Given the description of an element on the screen output the (x, y) to click on. 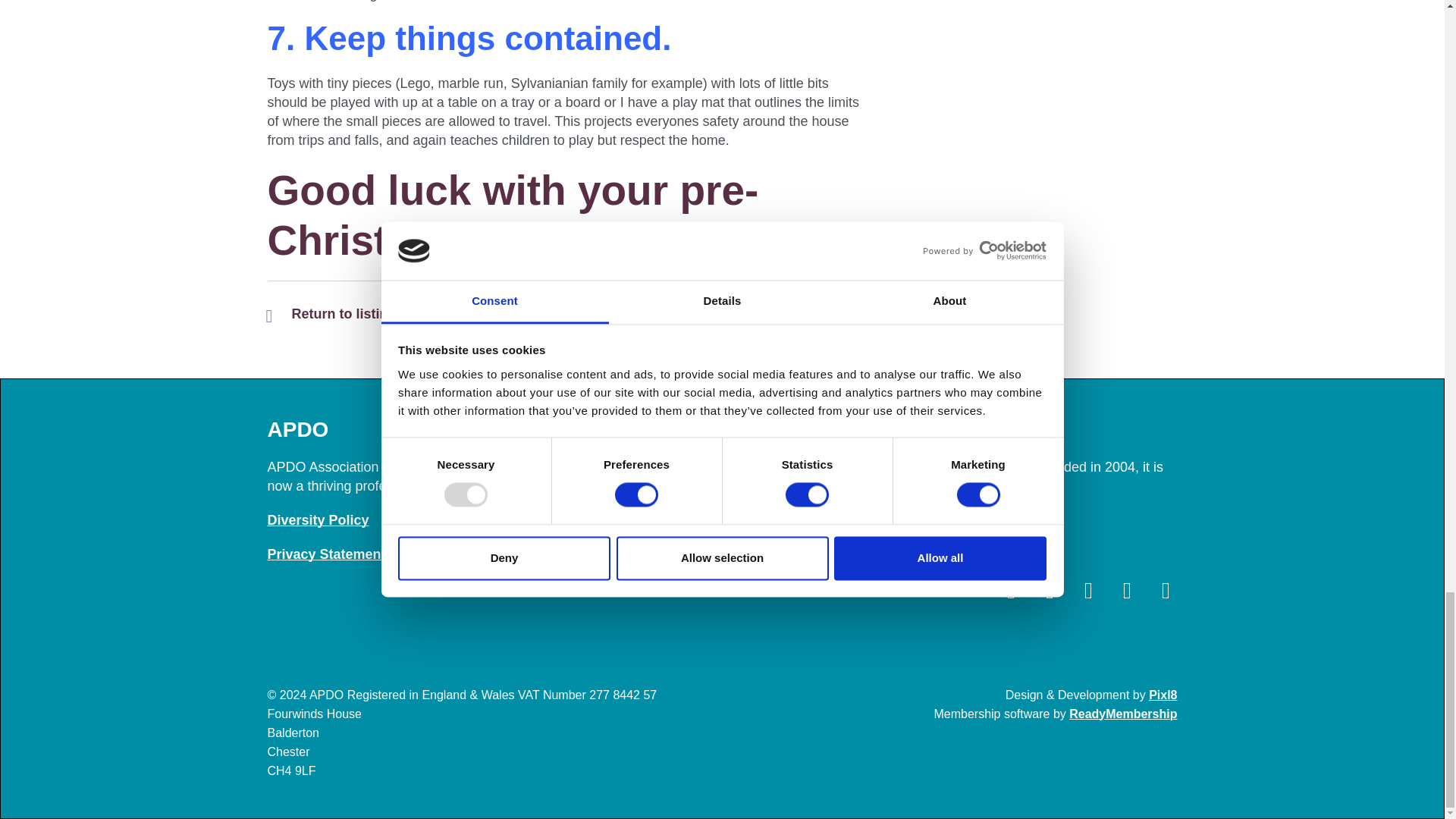
Diversity Policy (317, 519)
